Given the description of an element on the screen output the (x, y) to click on. 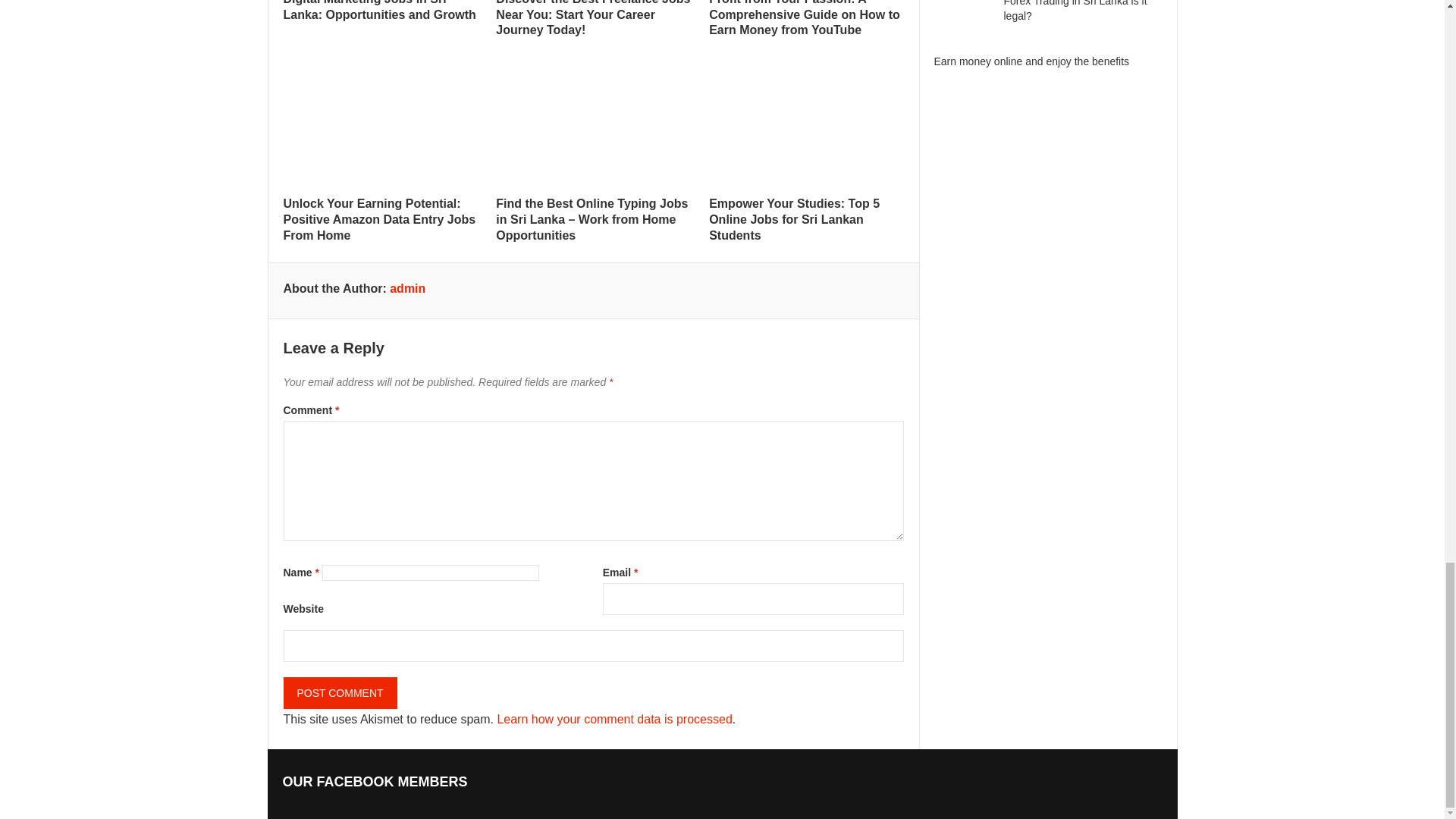
Post Comment (340, 693)
